Given the description of an element on the screen output the (x, y) to click on. 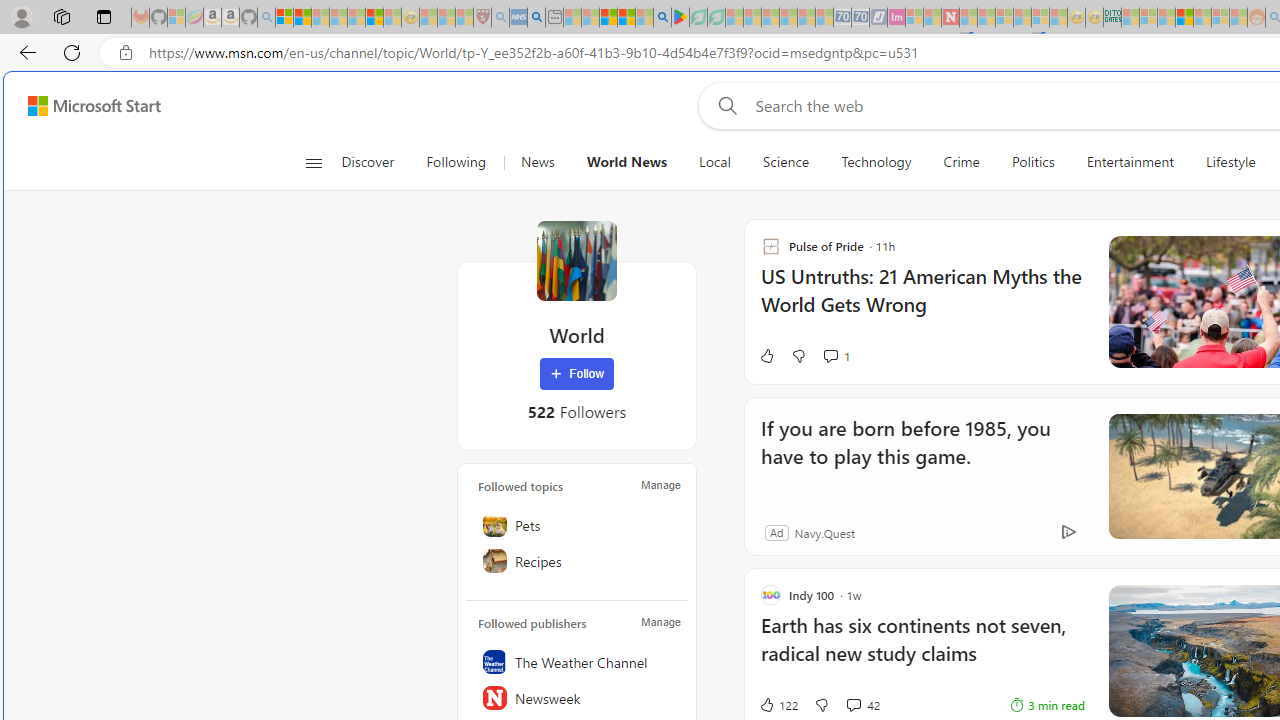
If you are born before 1985, you have to play this game. (916, 455)
View comments 42 Comment (862, 704)
122 Like (778, 704)
